Given the description of an element on the screen output the (x, y) to click on. 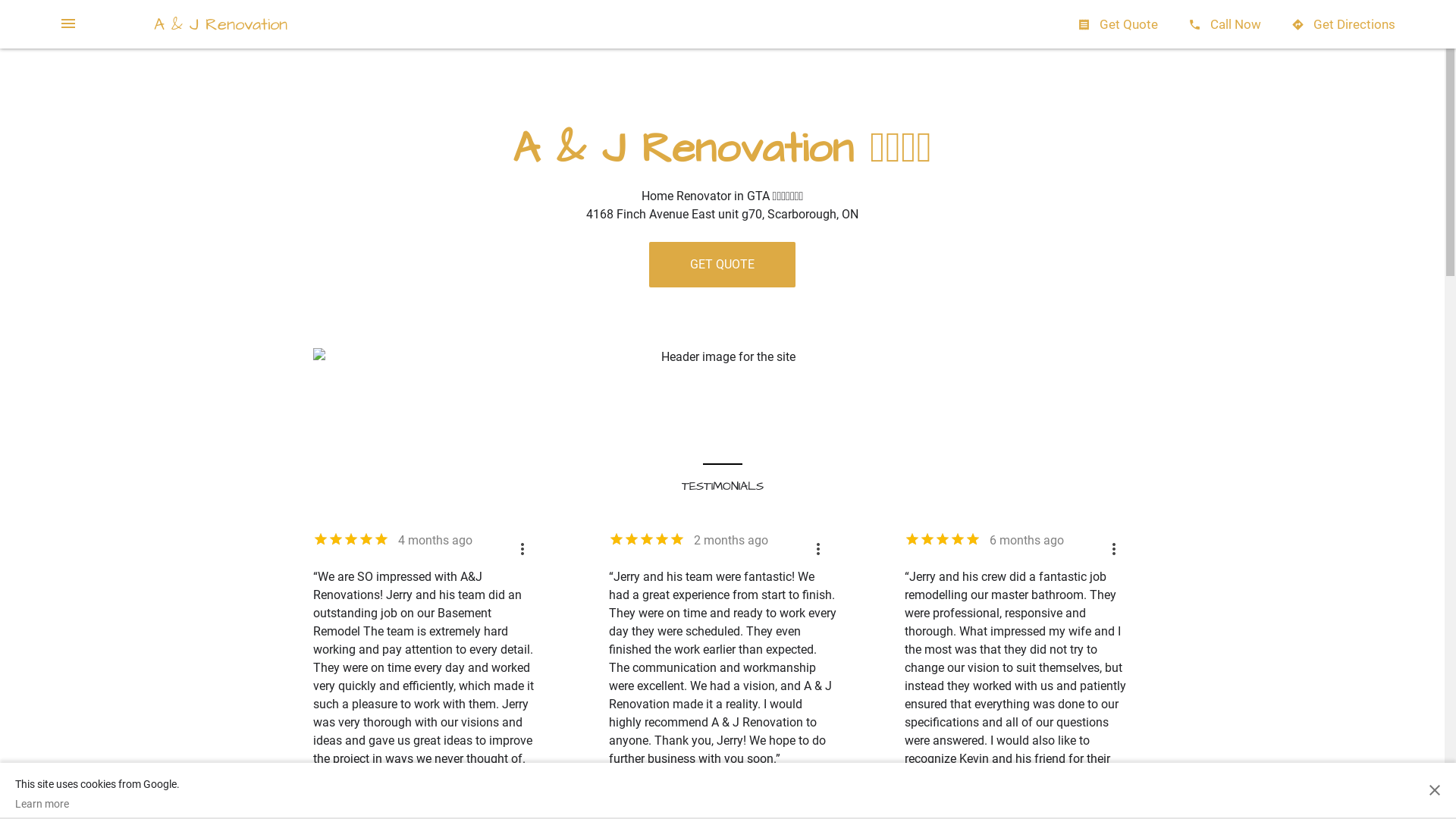
GET QUOTE Element type: text (722, 264)
Learn more Element type: text (97, 803)
